Given the description of an element on the screen output the (x, y) to click on. 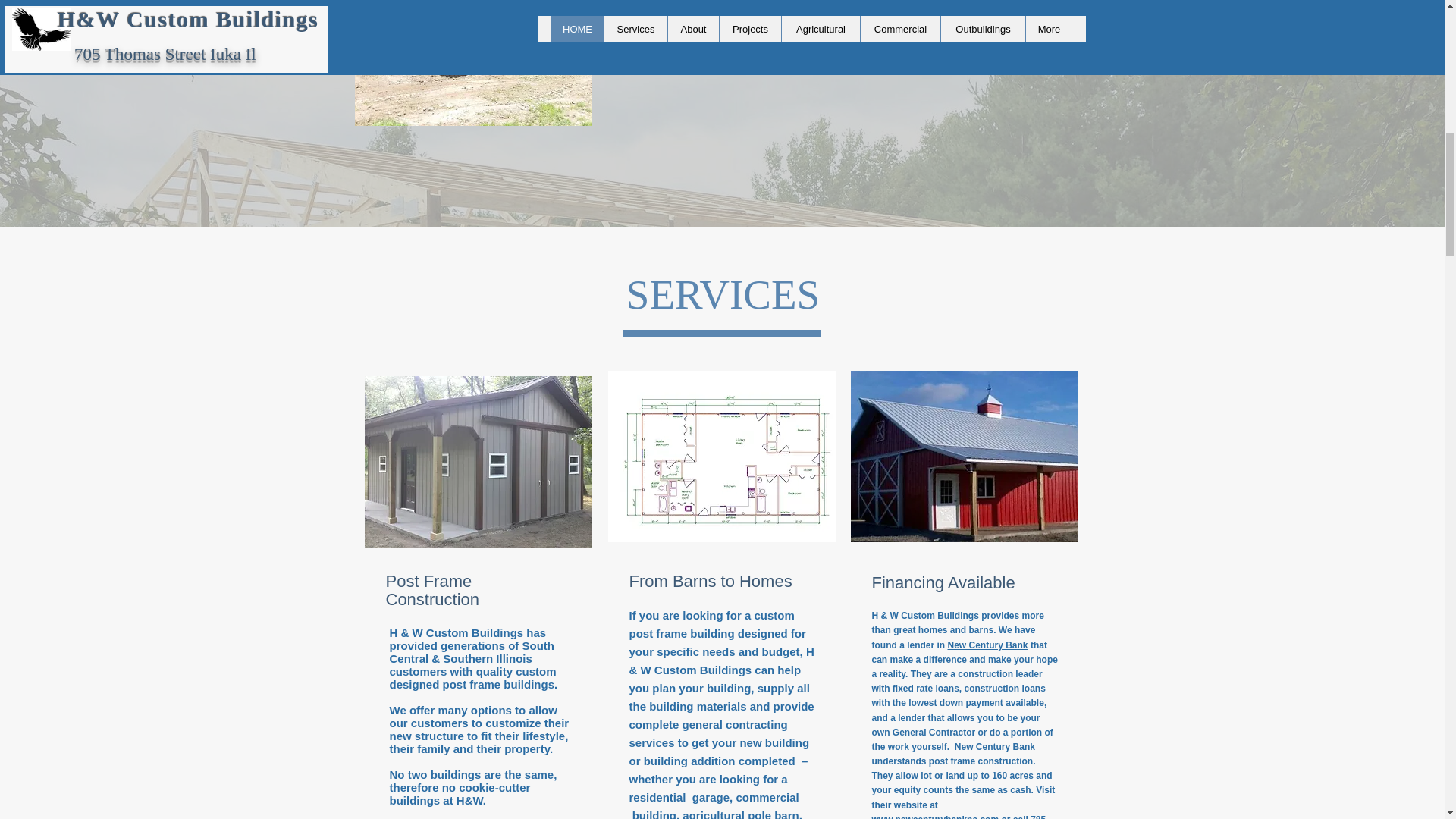
www.newcenturybankna.com (935, 816)
